Given the description of an element on the screen output the (x, y) to click on. 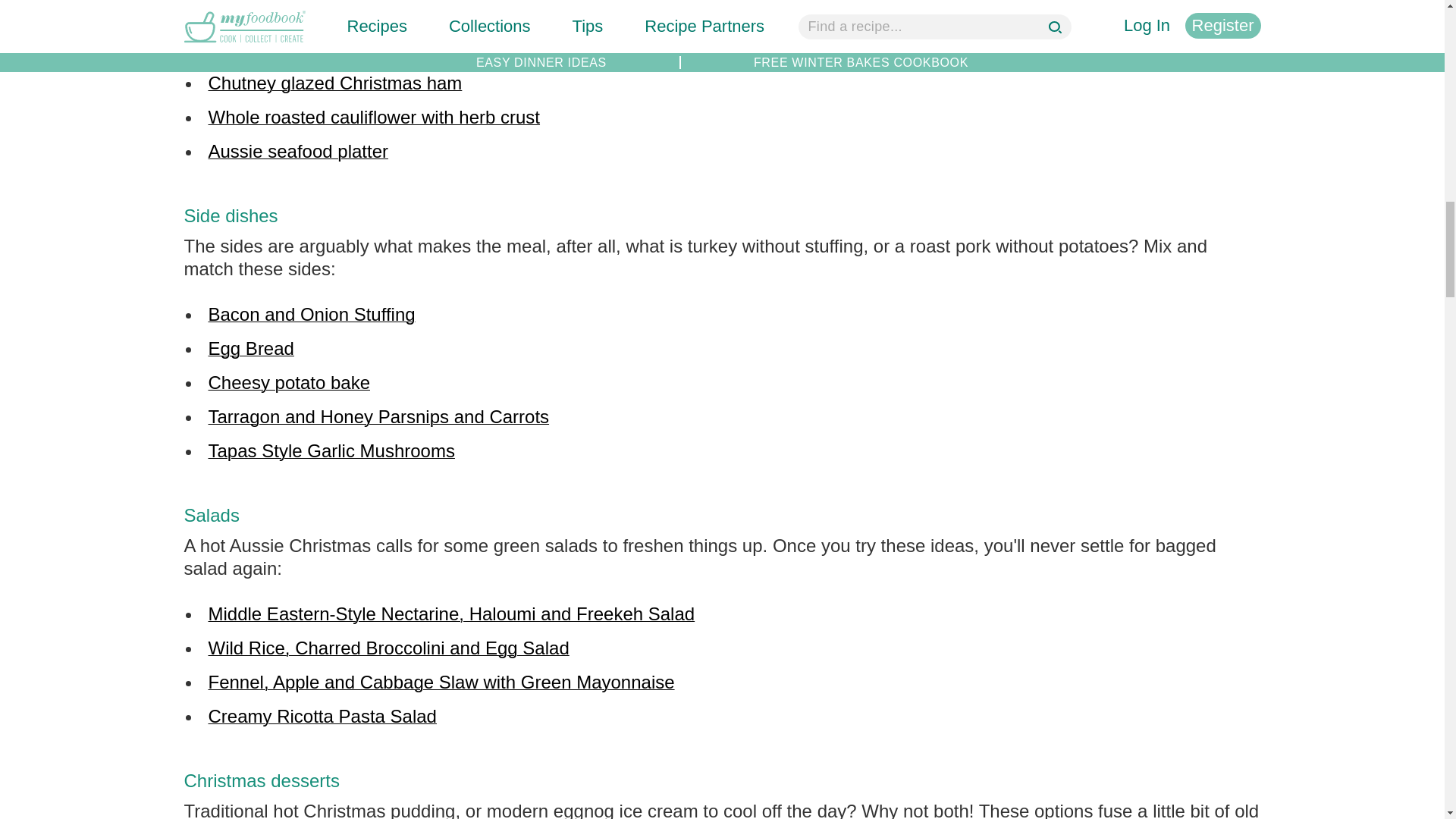
Turkey breast with lemon and thyme gravy (379, 48)
Turkey breast with lemon and thyme gravy (379, 48)
Chutney glazed Christmas ham (334, 82)
